Given the description of an element on the screen output the (x, y) to click on. 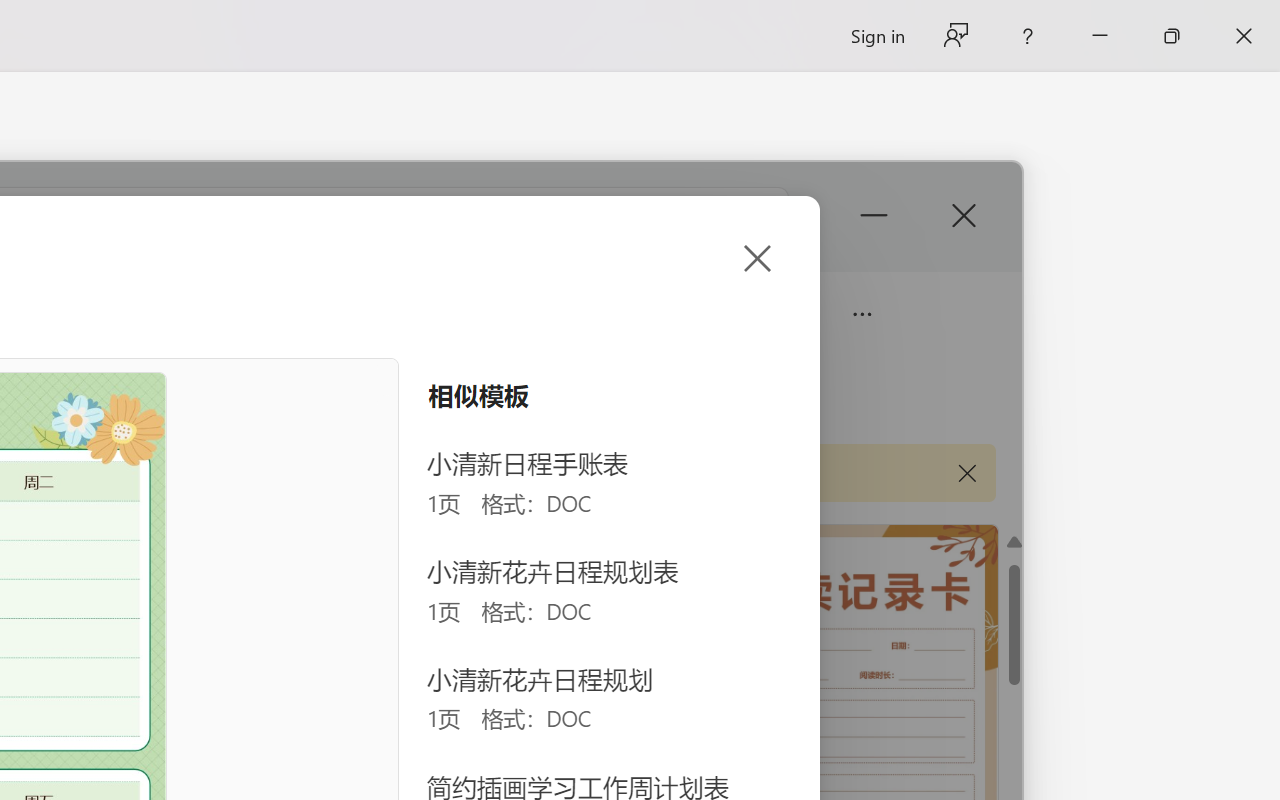
Sign in (875, 35)
